Given the description of an element on the screen output the (x, y) to click on. 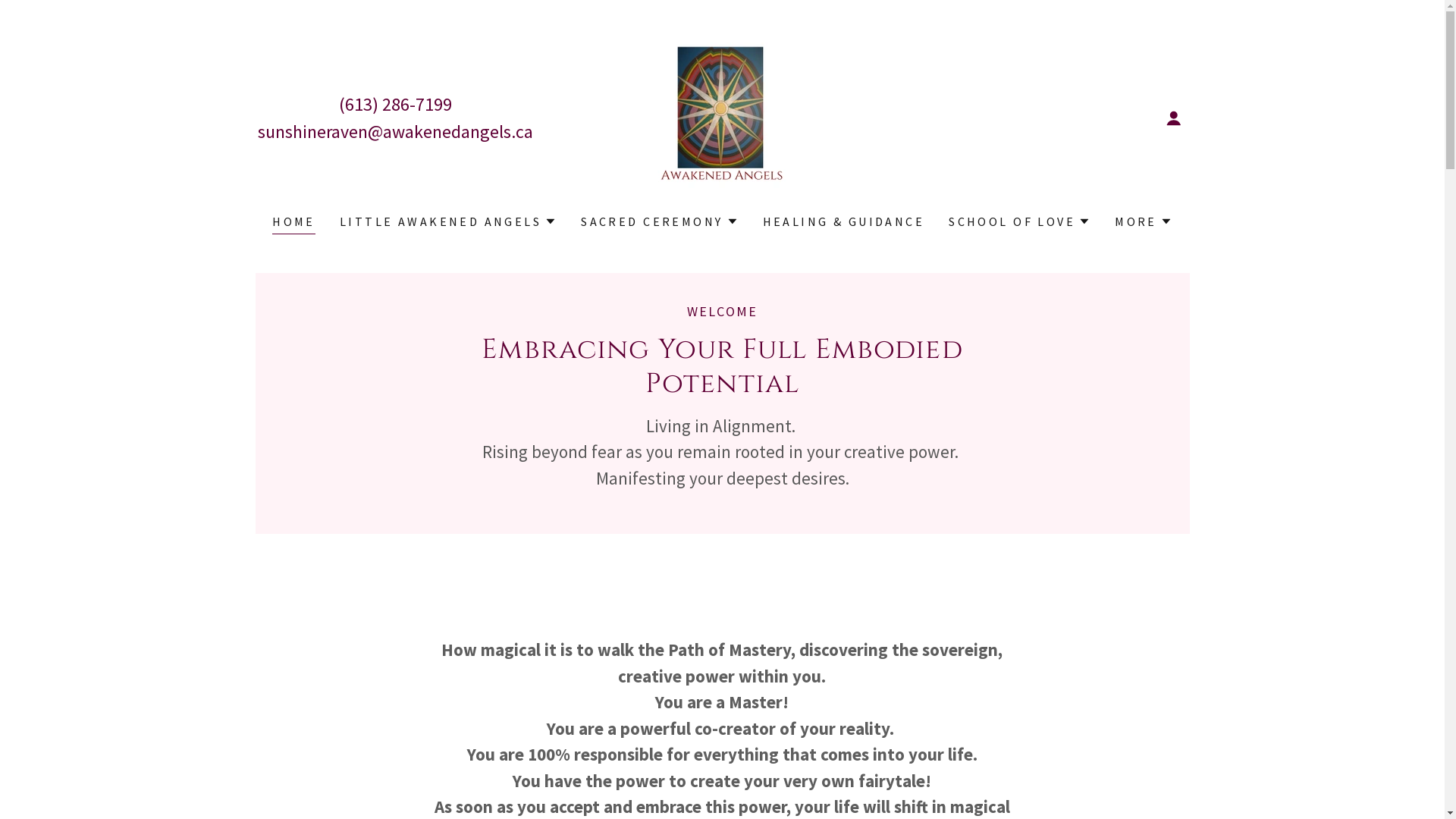
Awakened Angels Element type: hover (721, 116)
(613) 286-7199 Element type: text (394, 104)
SCHOOL OF LOVE Element type: text (1019, 221)
HEALING & GUIDANCE Element type: text (843, 221)
sunshineraven@awakenedangels.ca Element type: text (395, 131)
SACRED CEREMONY Element type: text (658, 221)
MORE Element type: text (1143, 221)
LITTLE AWAKENED ANGELS Element type: text (447, 221)
HOME Element type: text (293, 223)
